Given the description of an element on the screen output the (x, y) to click on. 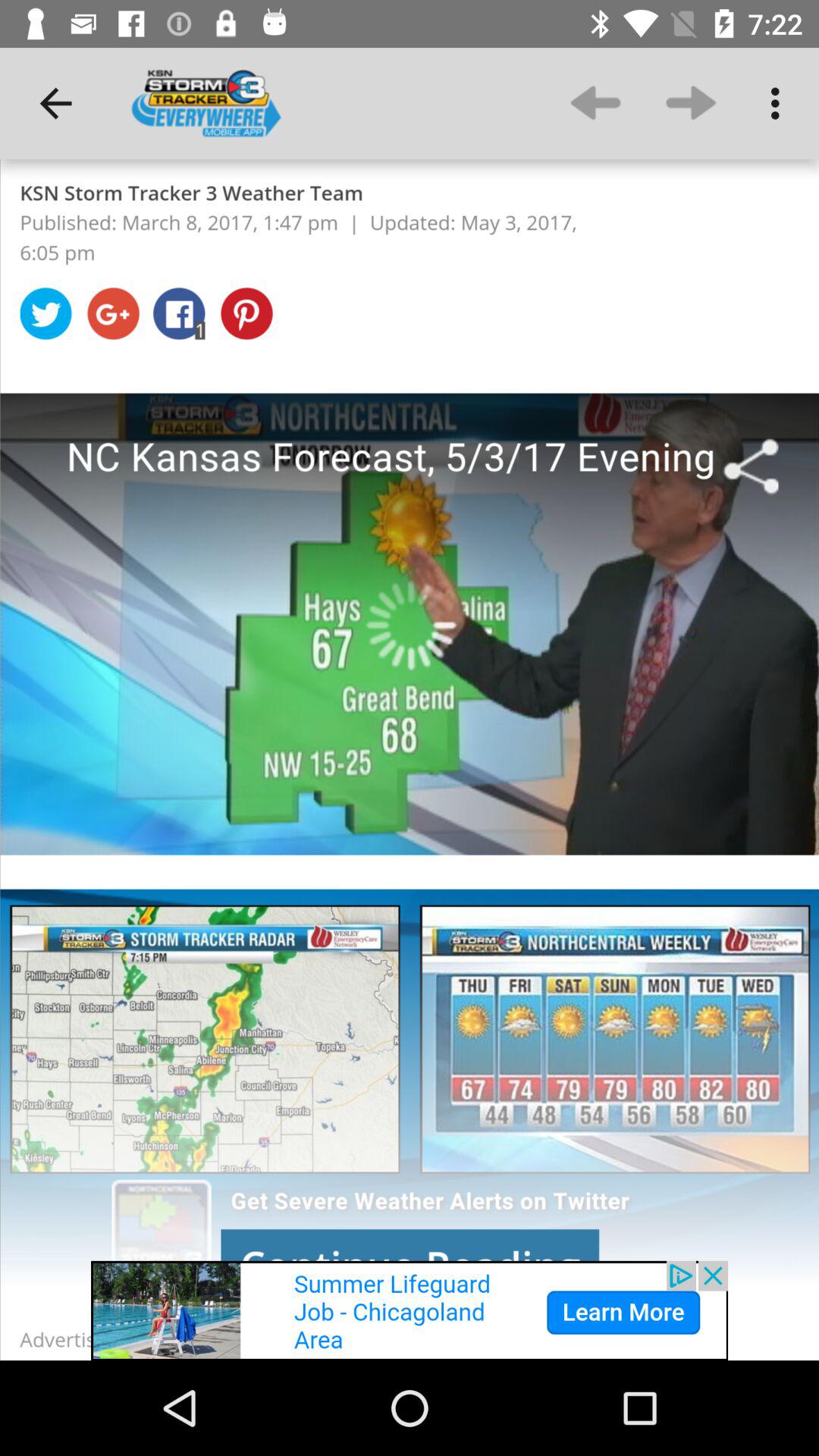
twitter page (409, 759)
